Given the description of an element on the screen output the (x, y) to click on. 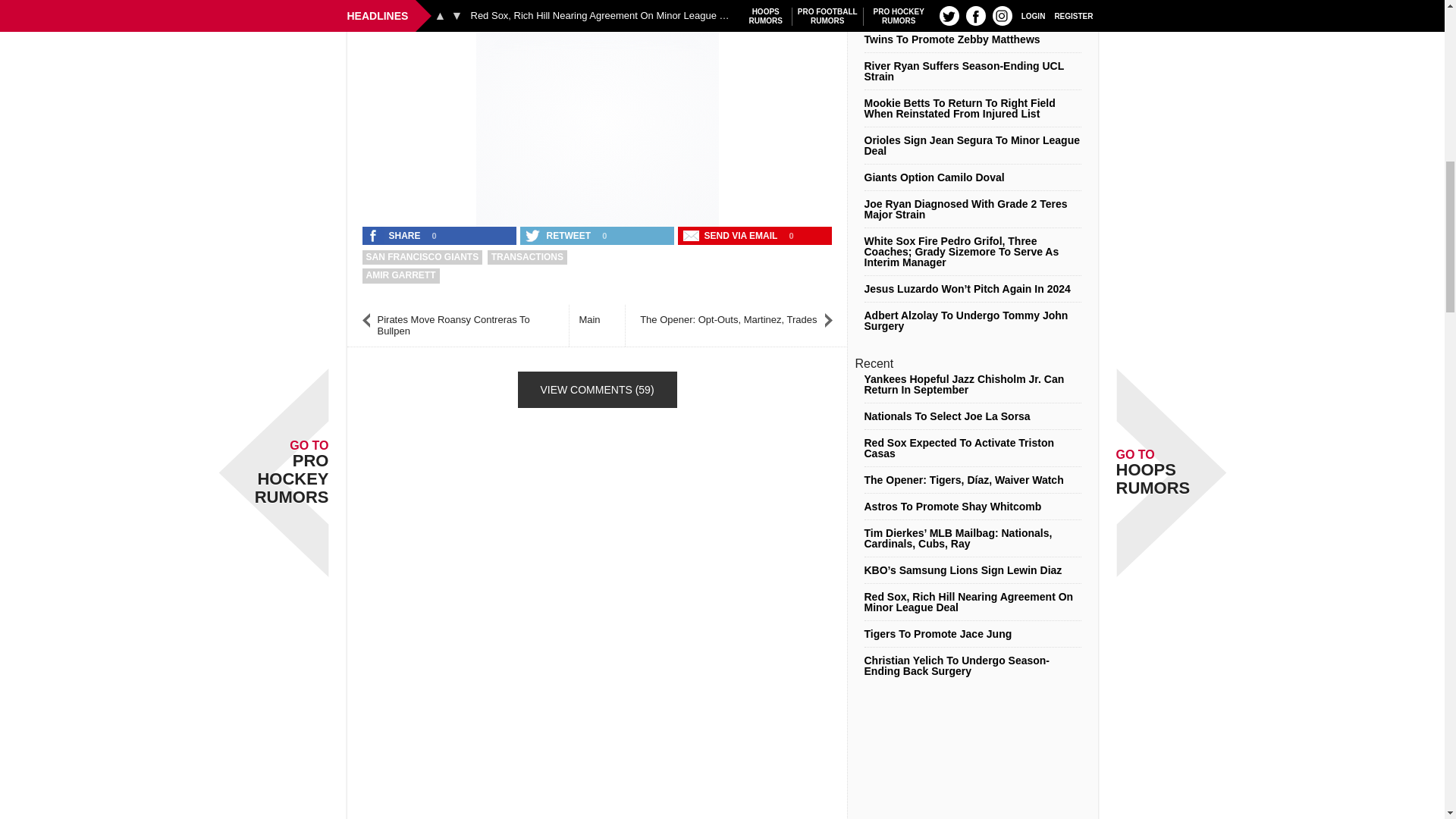
3rd party ad content (597, 124)
Send Giants Release Amir Garrett with an email (732, 235)
Retweet 'Giants Release Amir Garrett' on Twitter (558, 235)
Share 'Giants Release Amir Garrett' on Facebook (395, 235)
